Given the description of an element on the screen output the (x, y) to click on. 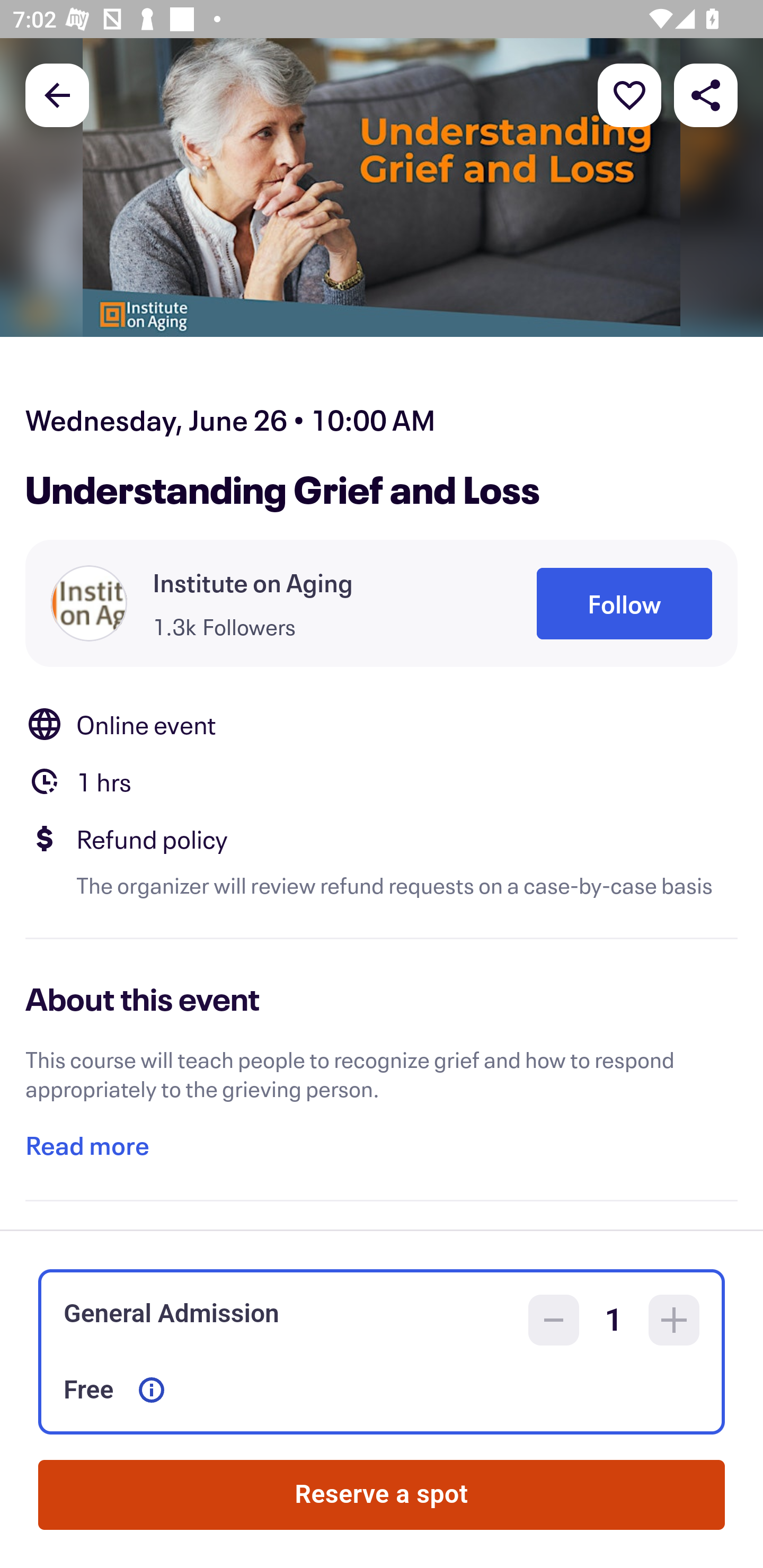
Back (57, 94)
More (629, 94)
Share (705, 94)
Institute on Aging (252, 582)
Organizer profile picture (89, 602)
Follow (623, 603)
Location Online event (381, 724)
Read more (87, 1145)
